Given the description of an element on the screen output the (x, y) to click on. 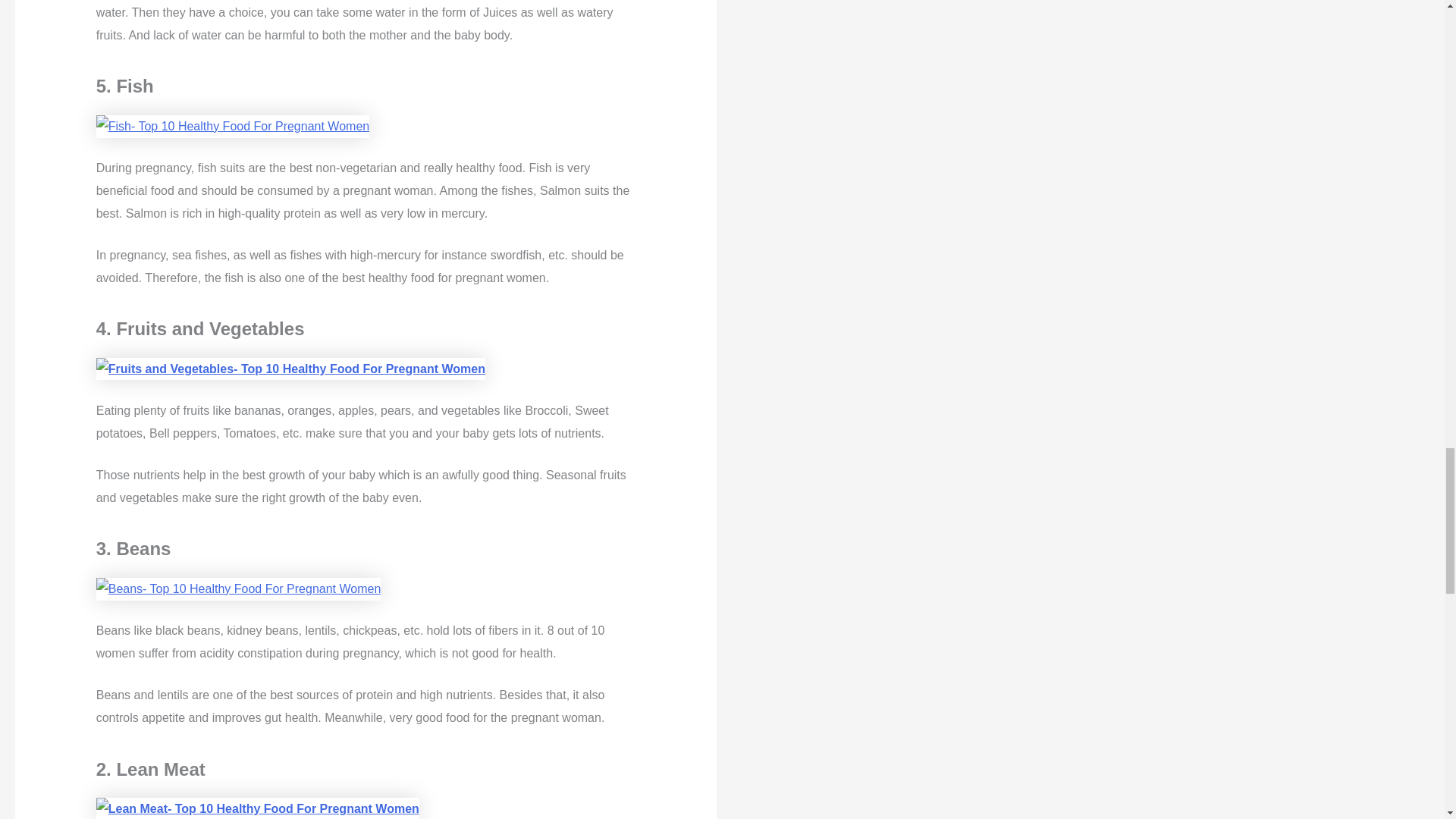
Beans- Top 10 Healthy Food For Pregnant Women (238, 589)
Fish- Top 10 Healthy Food For Pregnant Women (232, 126)
Lean Meat- Top 10 Healthy Food For Pregnant Women (257, 808)
